Given the description of an element on the screen output the (x, y) to click on. 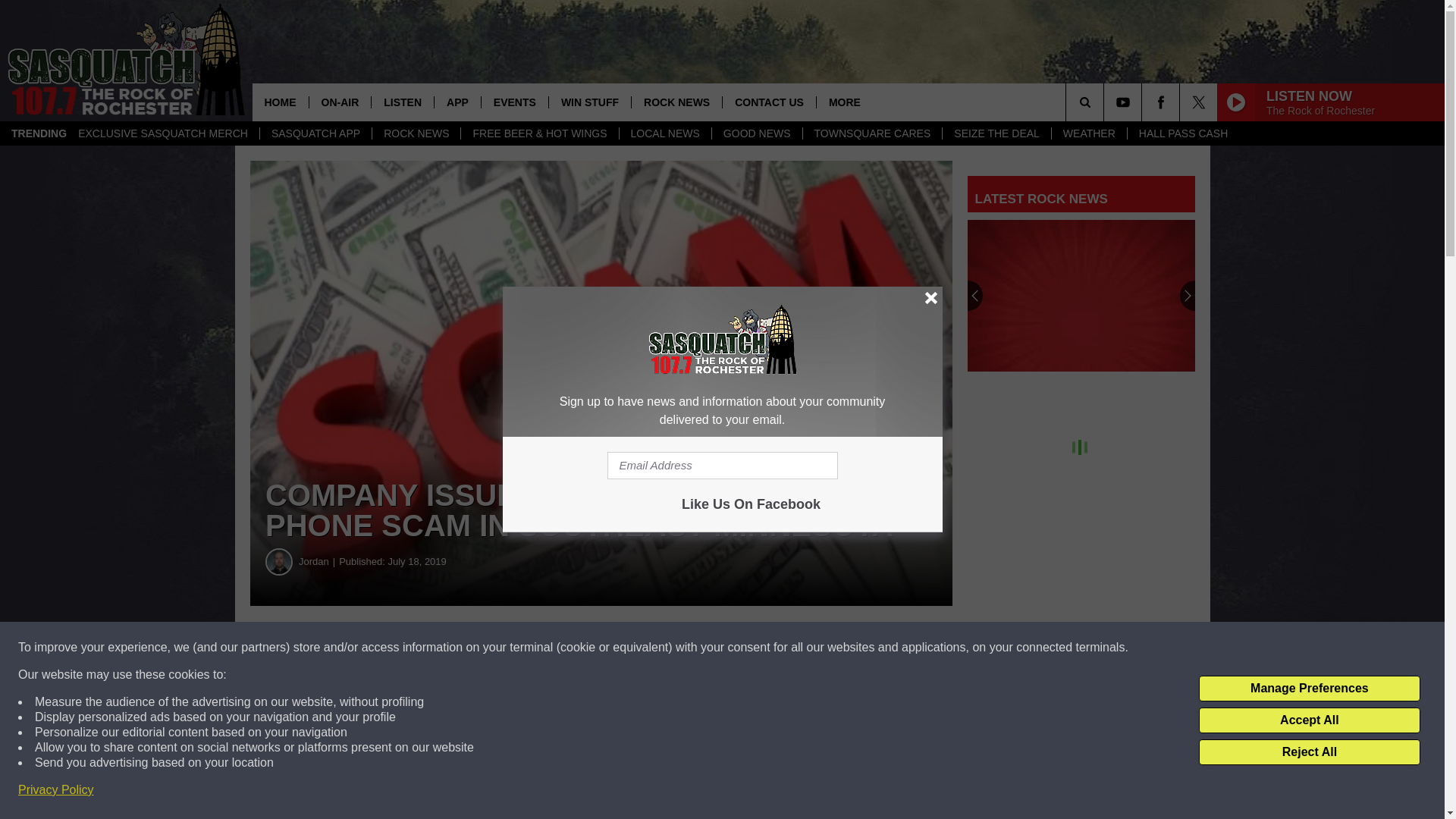
GOOD NEWS (756, 133)
Share on Facebook (460, 647)
Privacy Policy (55, 789)
HOME (279, 102)
Reject All (1309, 751)
Accept All (1309, 720)
Email Address (722, 465)
Share on Twitter (741, 647)
WEATHER (1088, 133)
LISTEN (402, 102)
LOCAL NEWS (664, 133)
TOWNSQUARE CARES (872, 133)
SEARCH (1106, 102)
SASQUATCH APP (315, 133)
ROCK NEWS (415, 133)
